Given the description of an element on the screen output the (x, y) to click on. 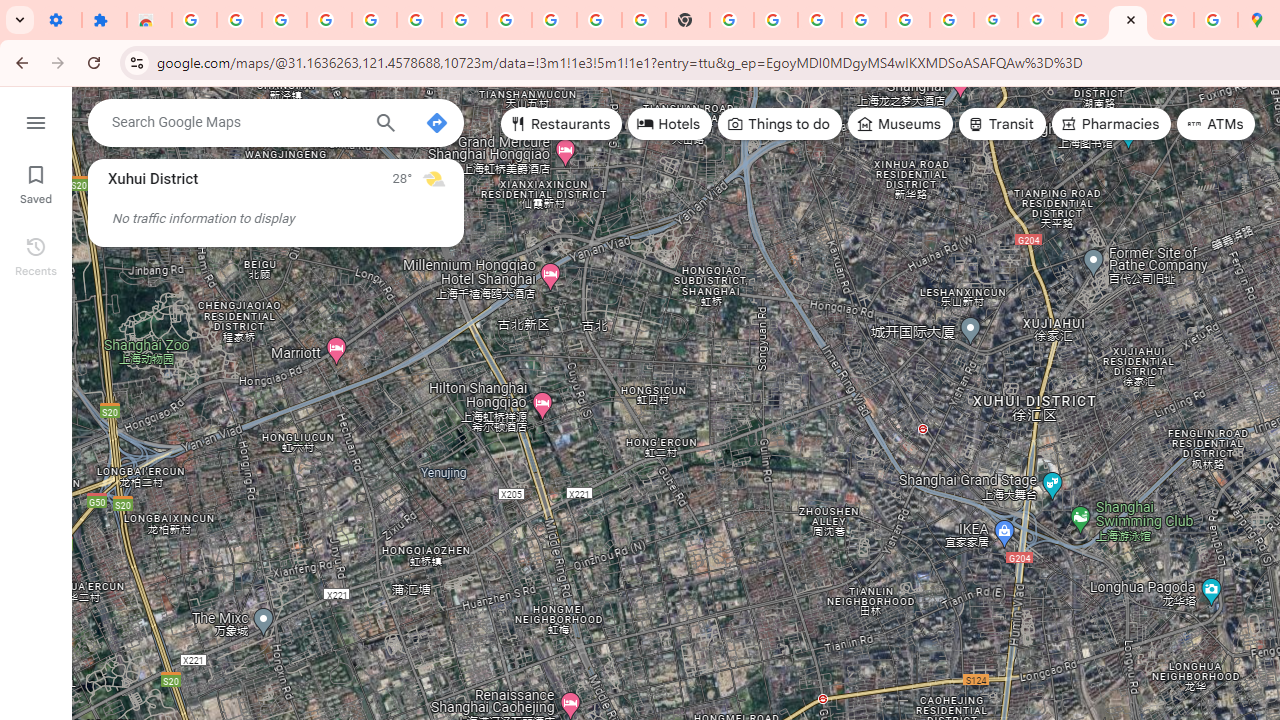
Google Maps (1127, 20)
Settings - On startup (59, 20)
Saved (35, 182)
New Tab (687, 20)
Menu (35, 120)
Search Google Maps (235, 121)
Things to do (780, 124)
Sign in - Google Accounts (863, 20)
